Given the description of an element on the screen output the (x, y) to click on. 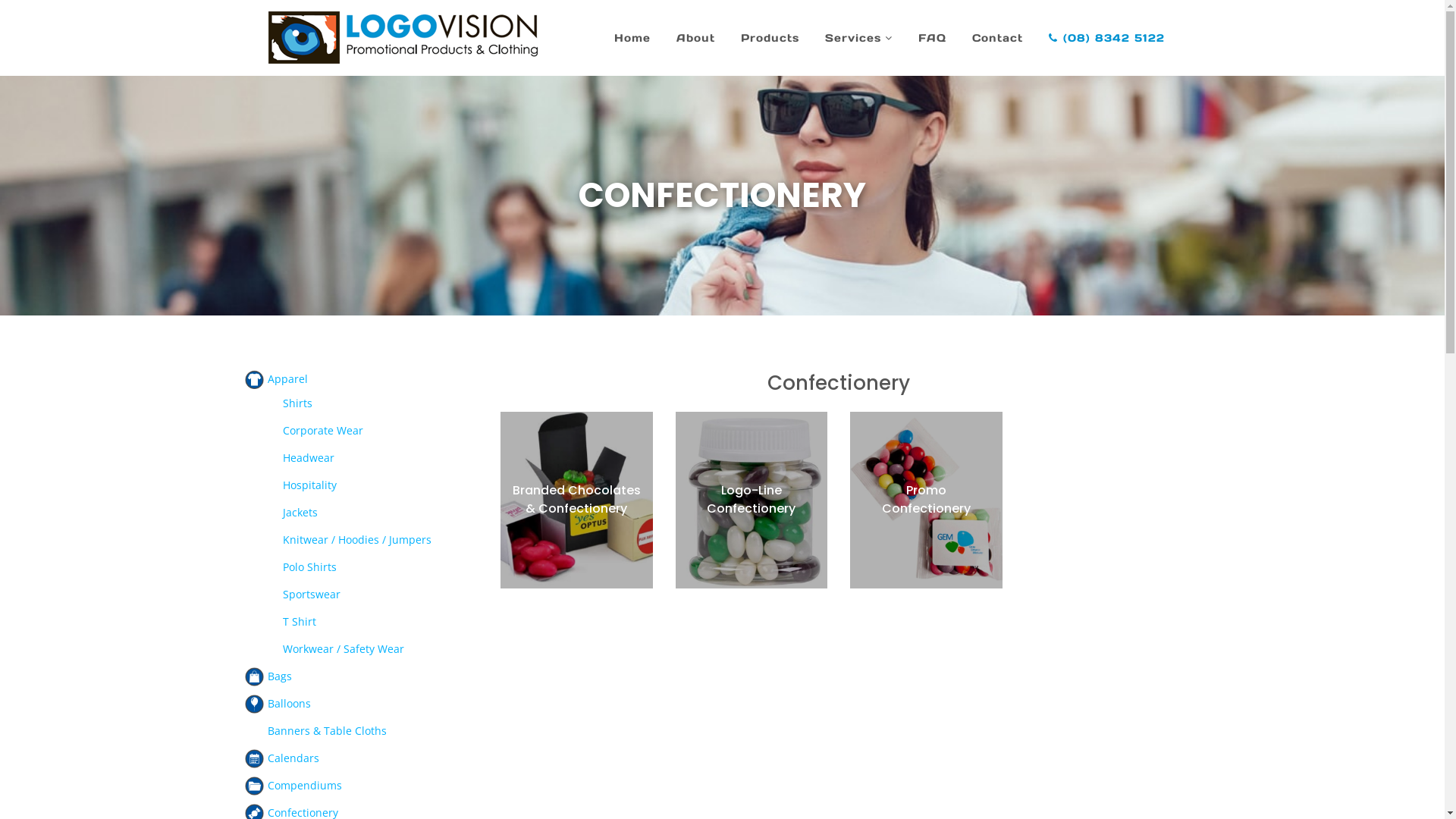
Calendars Element type: text (292, 757)
Knitwear / Hoodies / Jumpers Element type: text (356, 539)
T Shirt Element type: text (298, 621)
Polo Shirts Element type: text (308, 566)
Jackets Element type: text (299, 512)
Compendiums Element type: text (303, 785)
Banners & Table Cloths Element type: text (325, 730)
Hospitality Element type: text (308, 484)
(08) 8342 5122 Element type: text (1106, 37)
Apparel Element type: text (286, 378)
Corporate Wear Element type: text (322, 430)
Contact Element type: text (996, 37)
Headwear Element type: text (307, 457)
Balloons Element type: text (288, 703)
Shirts Element type: text (296, 402)
Workwear / Safety Wear Element type: text (342, 648)
About Element type: text (694, 37)
FAQ Element type: text (932, 37)
Services Element type: text (857, 37)
Home Element type: text (631, 37)
Sportswear Element type: text (310, 593)
Products Element type: text (770, 37)
Bags Element type: text (278, 675)
